Given the description of an element on the screen output the (x, y) to click on. 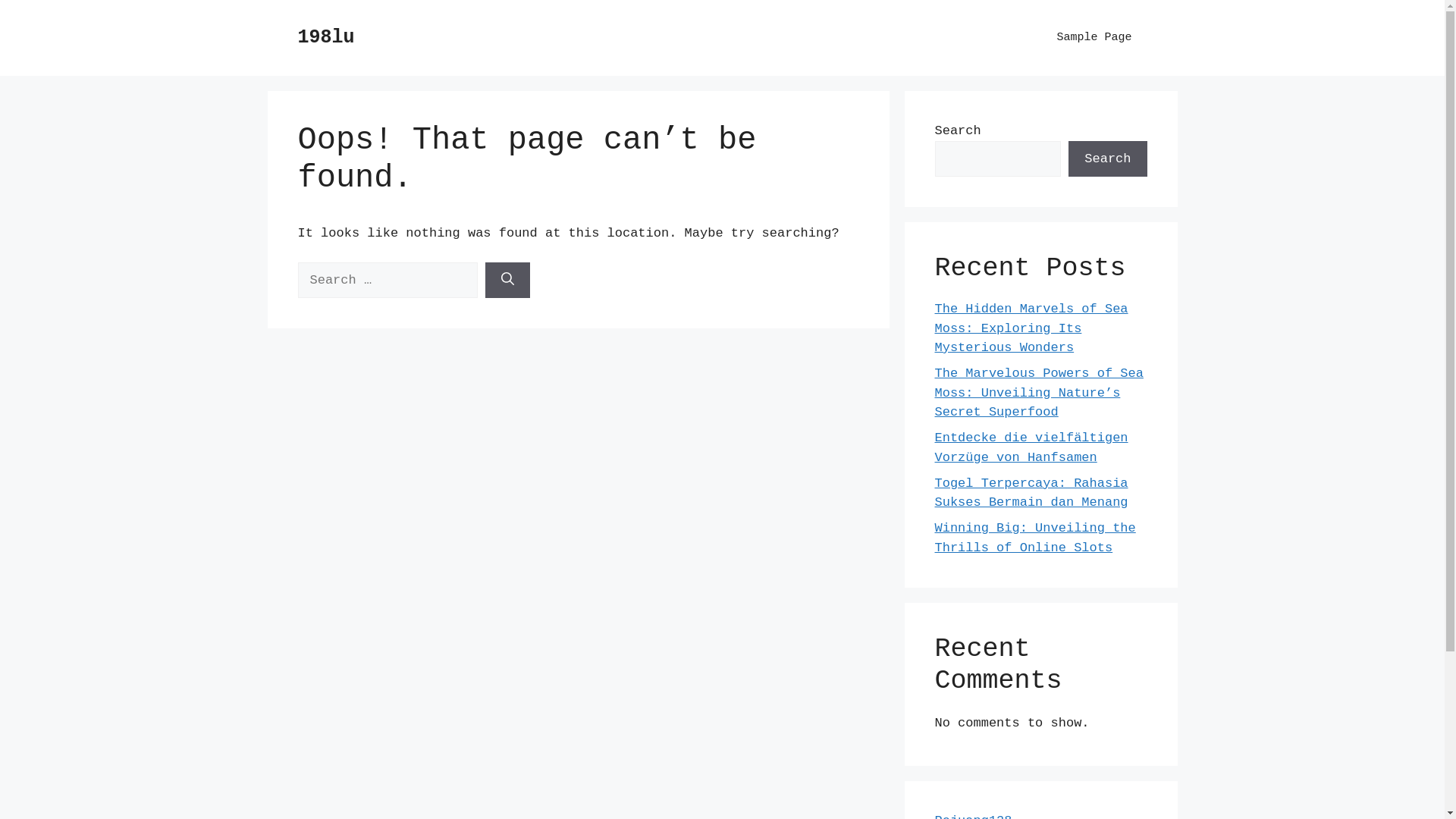
Winning Big: Unveiling the Thrills of Online Slots Element type: text (1034, 537)
Search Element type: text (1107, 159)
Search for: Element type: hover (386, 280)
Togel Terpercaya: Rahasia Sukses Bermain dan Menang Element type: text (1030, 493)
198lu Element type: text (325, 37)
Sample Page Element type: text (1093, 37)
